Given the description of an element on the screen output the (x, y) to click on. 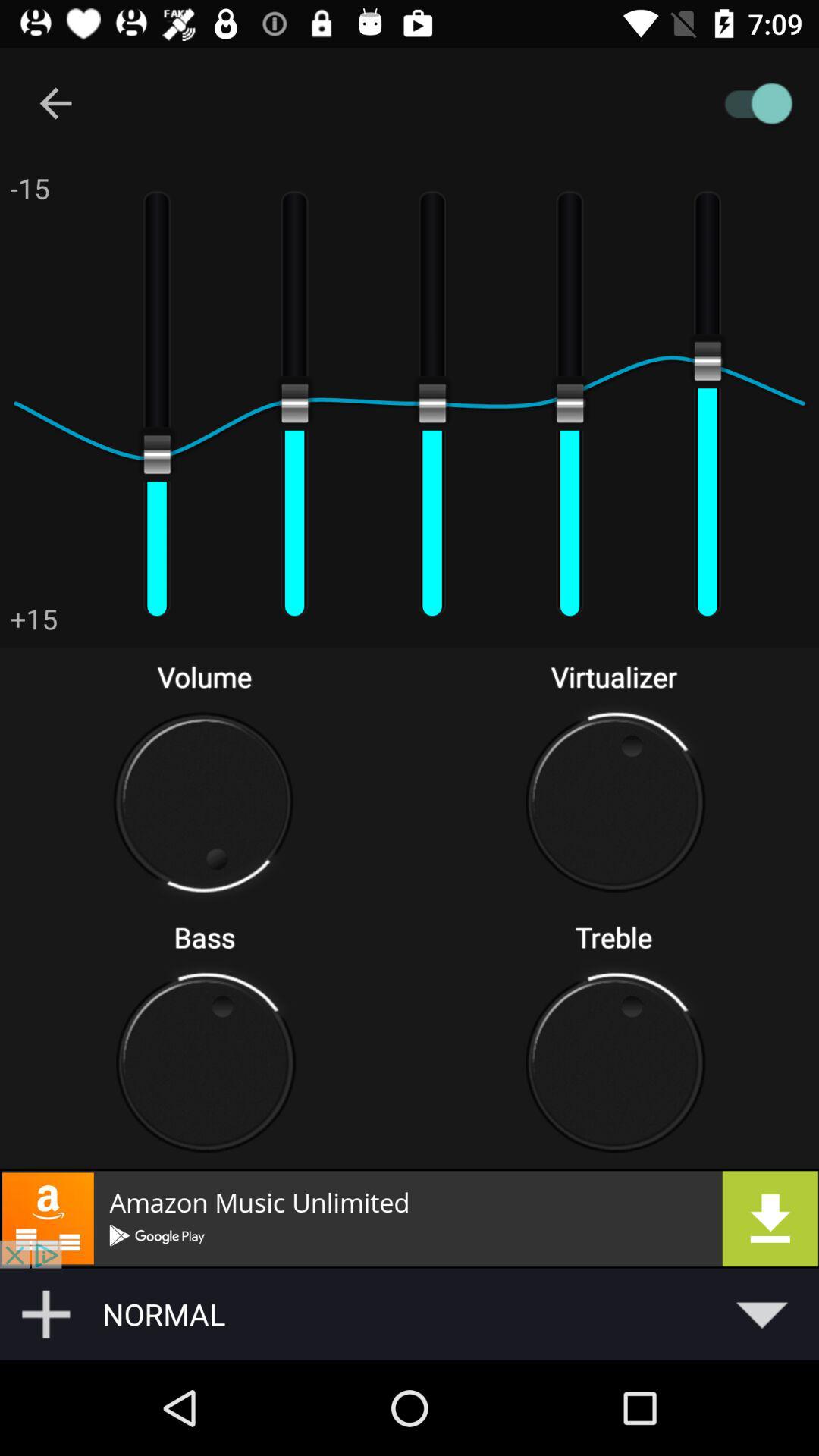
add button (46, 1314)
